Given the description of an element on the screen output the (x, y) to click on. 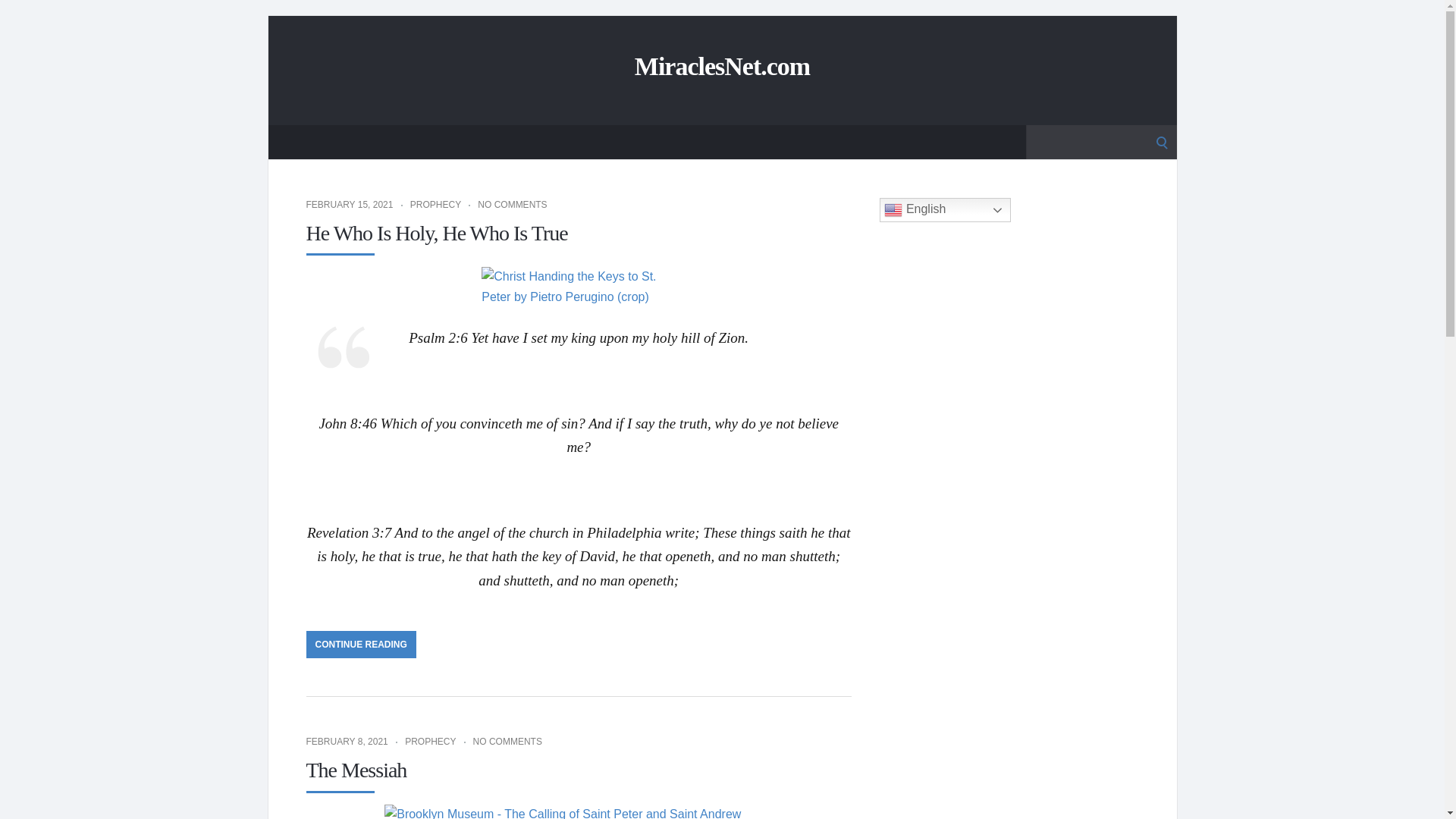
Search (16, 17)
NO COMMENTS (512, 204)
He Who Is Holy, He Who Is True (436, 232)
PROPHECY (435, 204)
The Messiah (356, 770)
Pietro Perugino , Public domain, via Wikimedia Commons (578, 286)
PROPHECY (429, 741)
James Tissot , Public domain, via Wikimedia Commons (578, 811)
English (944, 209)
CONTINUE READING (360, 644)
